Given the description of an element on the screen output the (x, y) to click on. 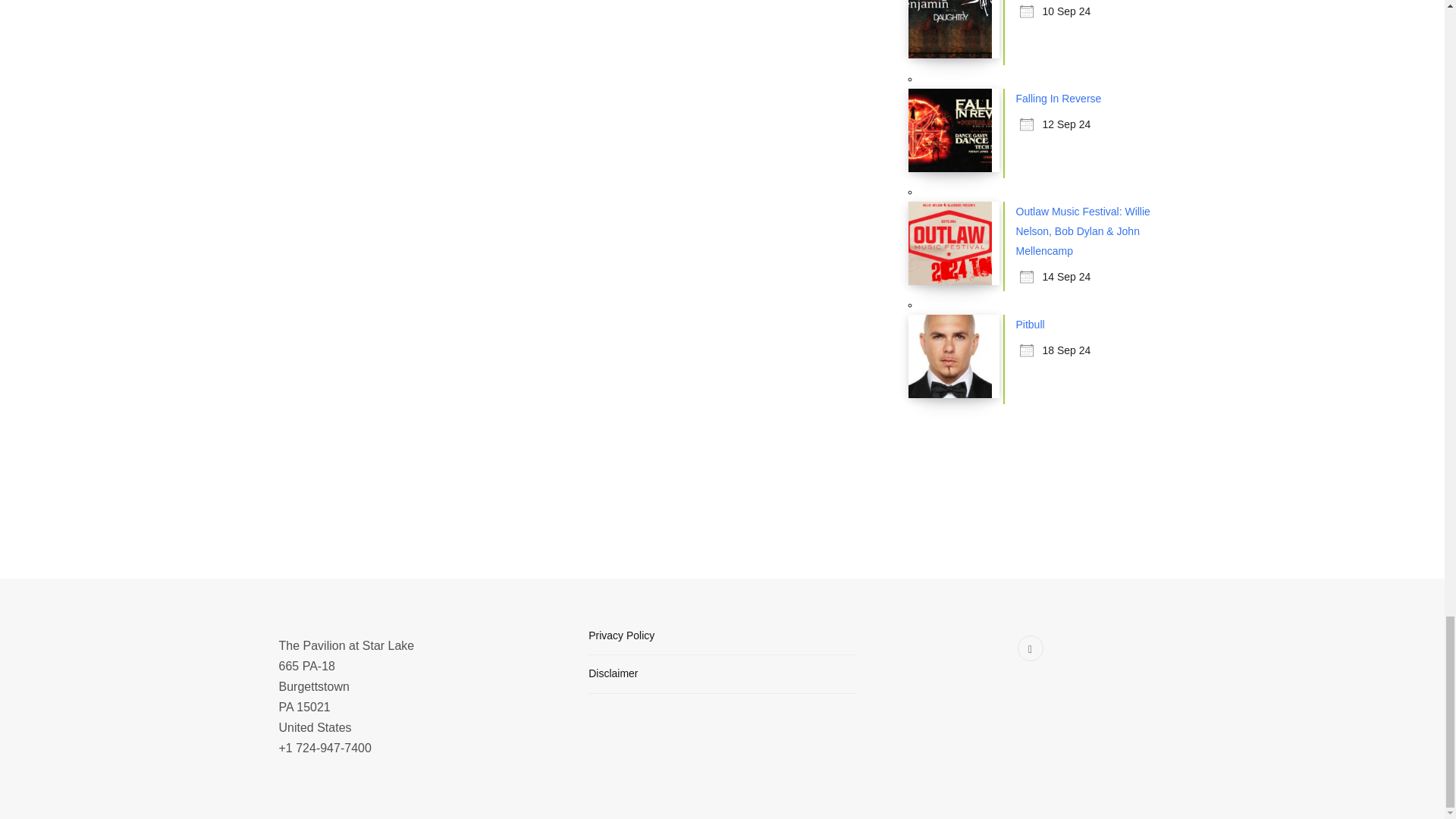
Privacy Policy (620, 635)
Disclaimer (612, 673)
Falling In Reverse (1059, 98)
Pitbull (1030, 324)
